Given the description of an element on the screen output the (x, y) to click on. 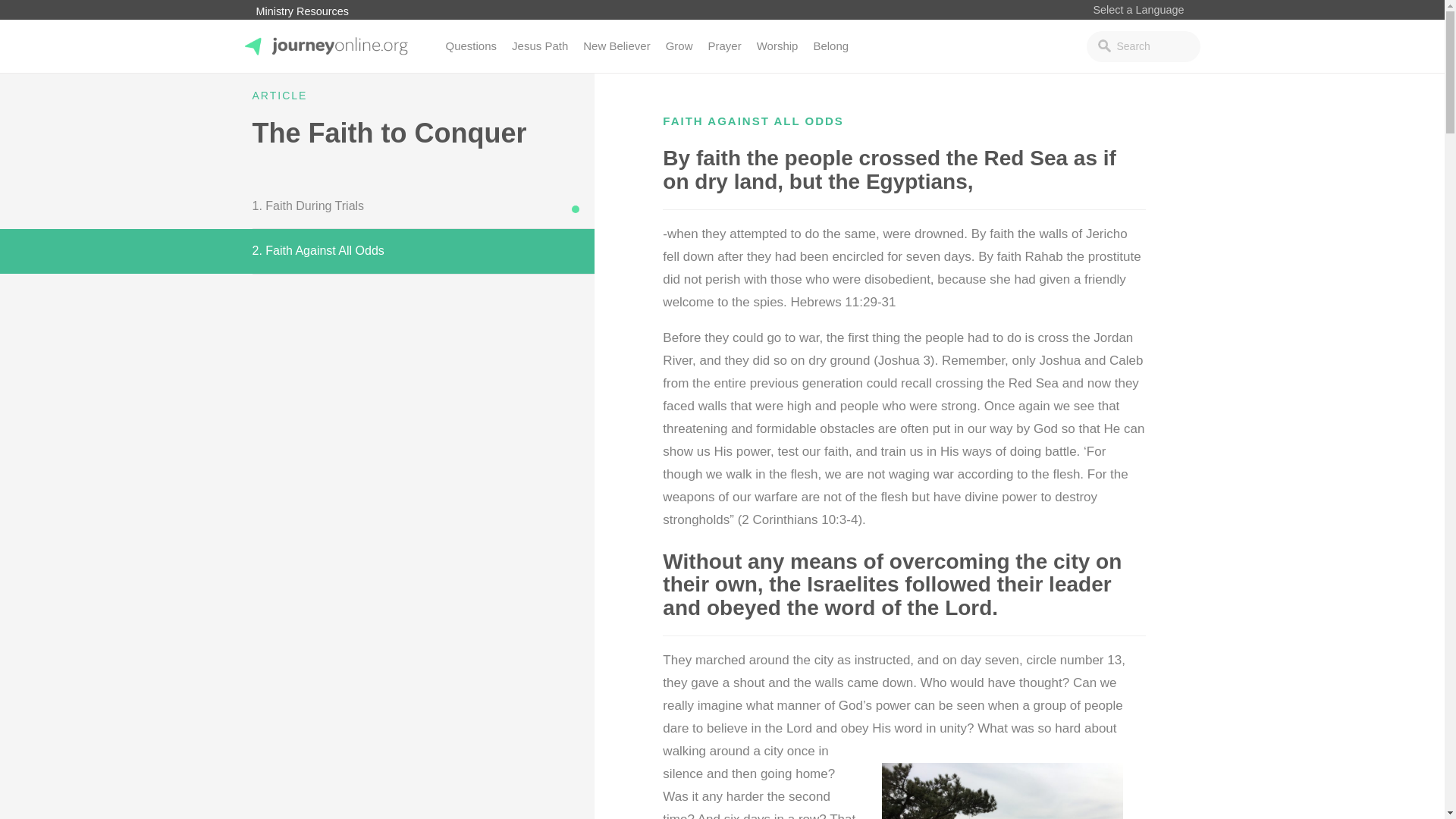
2. Faith Against All Odds (297, 250)
JourneyOnline (287, 95)
1. Faith During Trials (297, 206)
Belong (830, 46)
Questions (471, 46)
Prayer (724, 46)
Grow (679, 46)
Jesus Path (539, 46)
New Believer (616, 46)
Ministry Resources (301, 11)
